Given the description of an element on the screen output the (x, y) to click on. 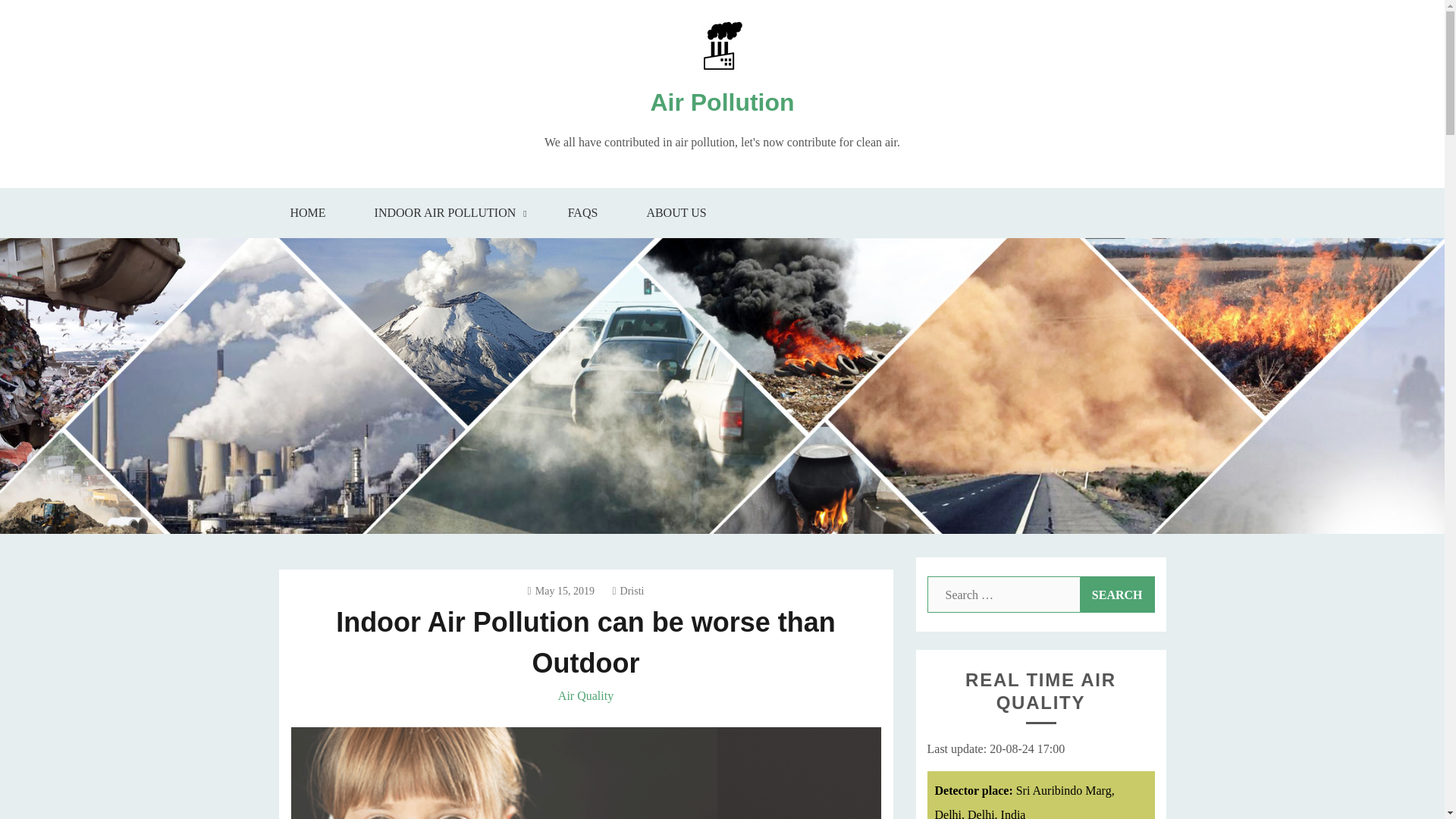
Air Pollution (721, 102)
Search (1117, 594)
Search (1117, 594)
Dristi (627, 591)
HOME (306, 213)
FAQS (582, 213)
INDOOR AIR POLLUTION (446, 213)
ABOUT US (676, 213)
May 15, 2019 (560, 591)
Air Quality (584, 695)
